Given the description of an element on the screen output the (x, y) to click on. 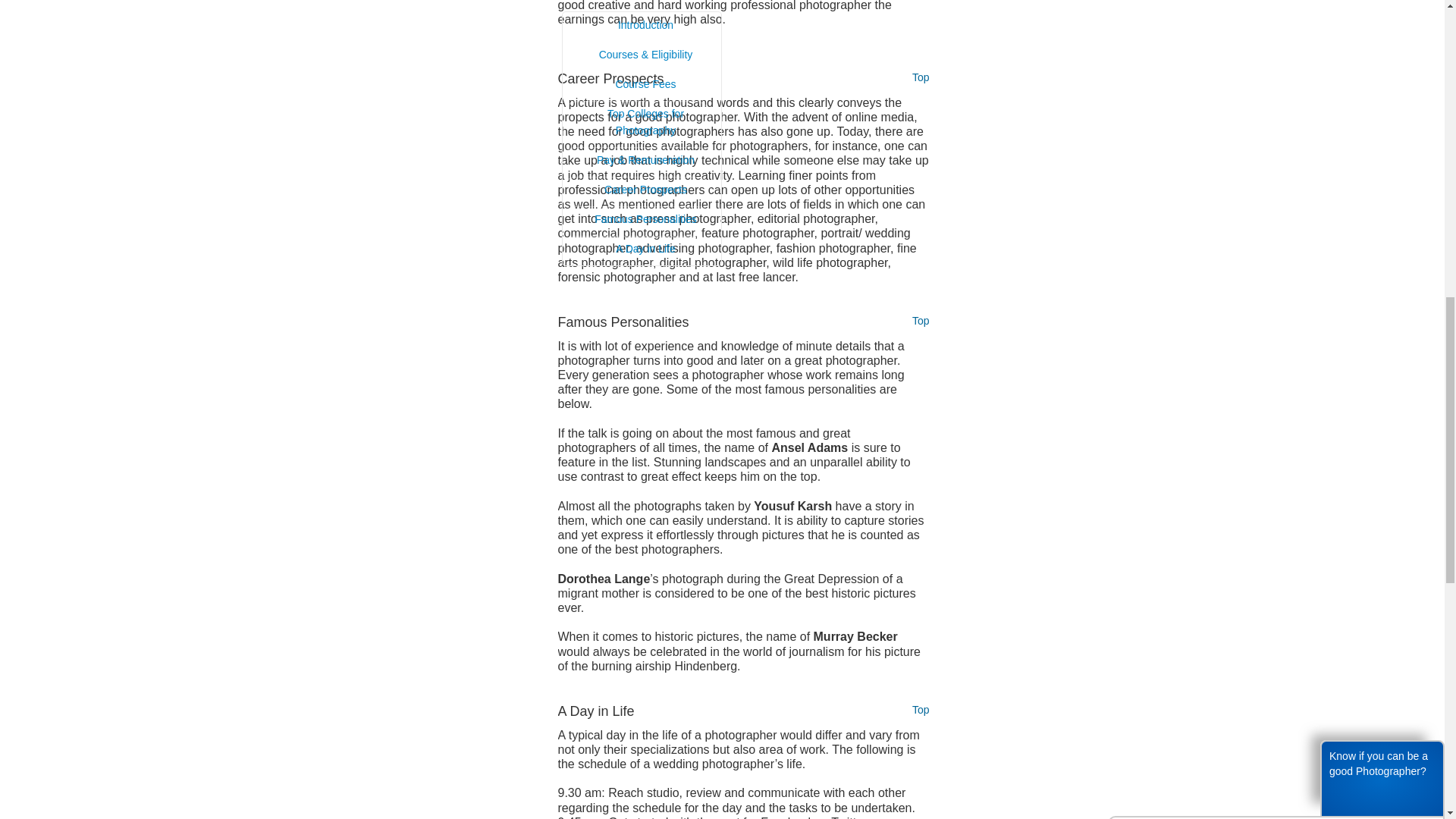
Top (921, 709)
Top (921, 77)
Take MyTalentTM Assessment (1198, 90)
Top (921, 320)
